Given the description of an element on the screen output the (x, y) to click on. 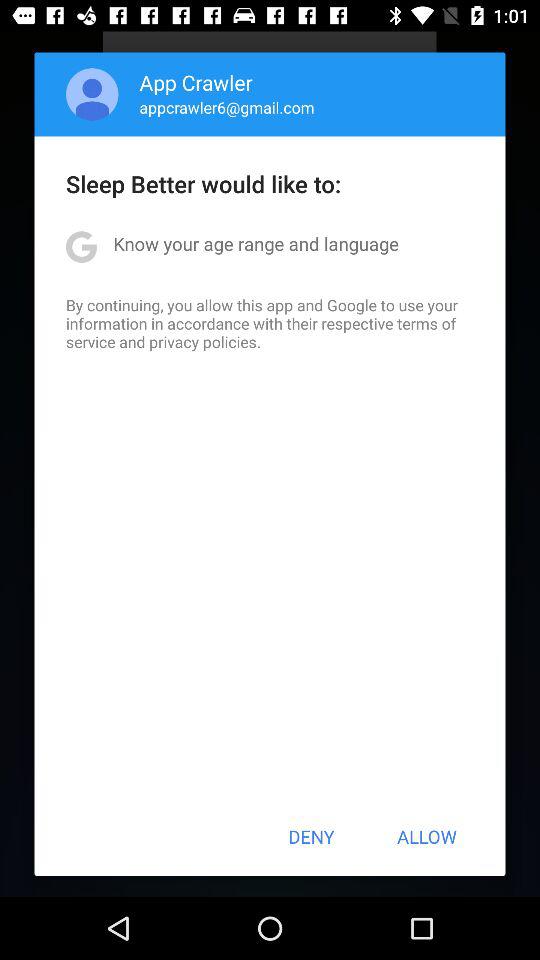
click the appcrawler6@gmail.com app (226, 107)
